Given the description of an element on the screen output the (x, y) to click on. 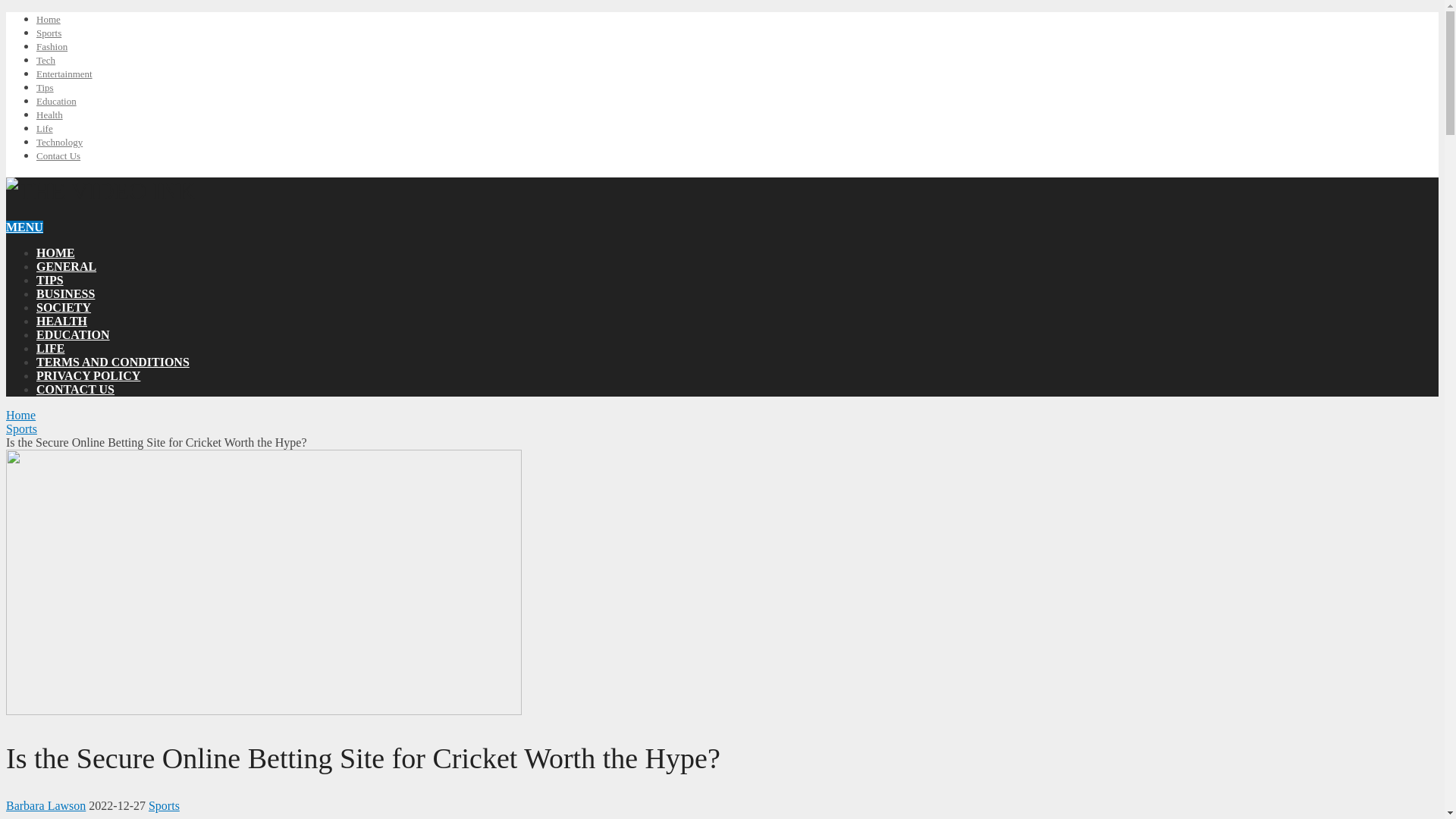
Home (19, 414)
MENU (24, 226)
LIFE (50, 348)
View all posts in Sports (163, 805)
Contact Us (58, 155)
HEALTH (61, 320)
SOCIETY (63, 307)
Entertainment (64, 73)
Sports (163, 805)
Sports (21, 428)
BUSINESS (65, 293)
Life (44, 128)
Barbara Lawson (45, 805)
Tech (45, 60)
TIPS (50, 279)
